Given the description of an element on the screen output the (x, y) to click on. 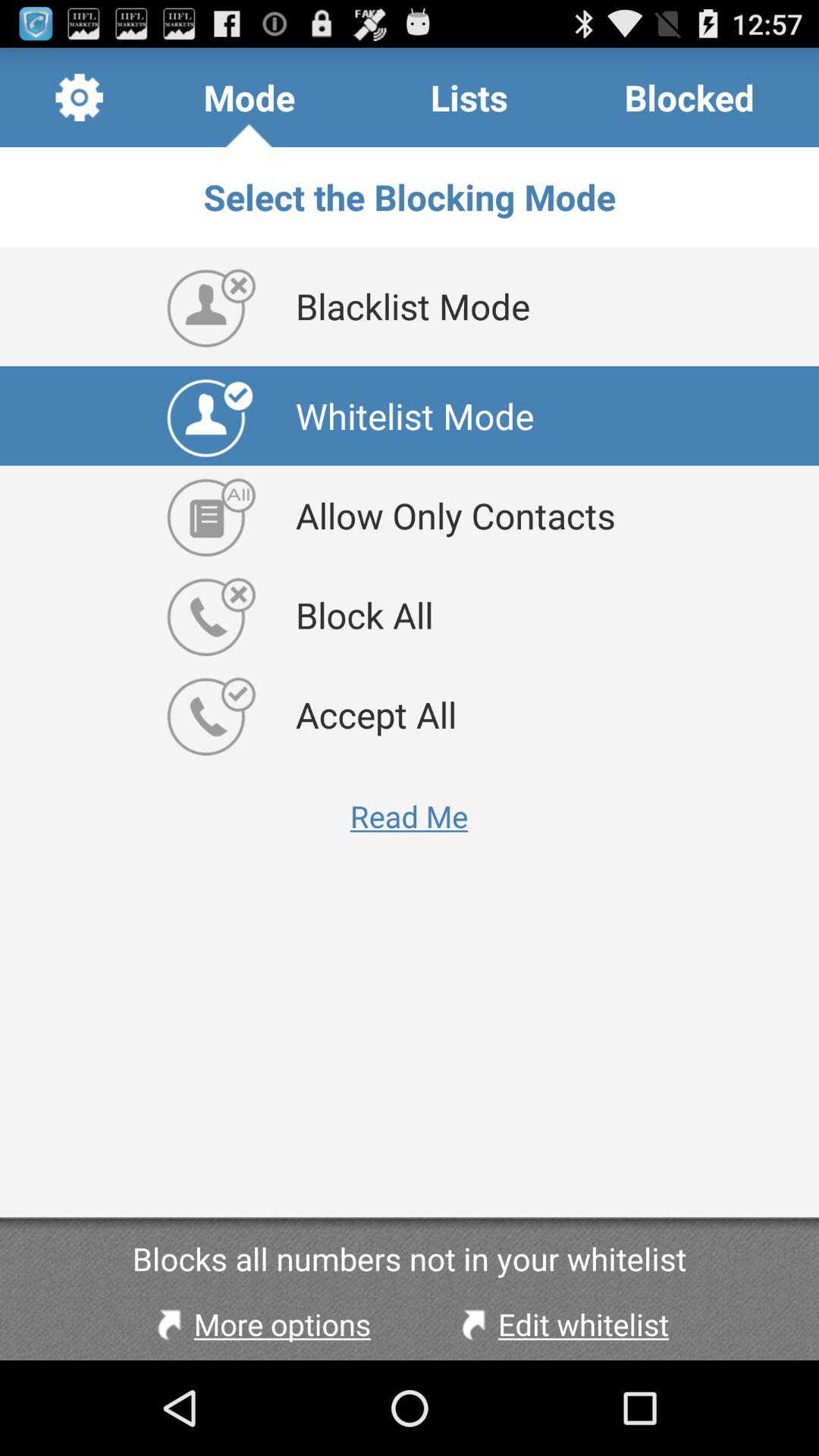
scroll until the more options icon (260, 1324)
